Given the description of an element on the screen output the (x, y) to click on. 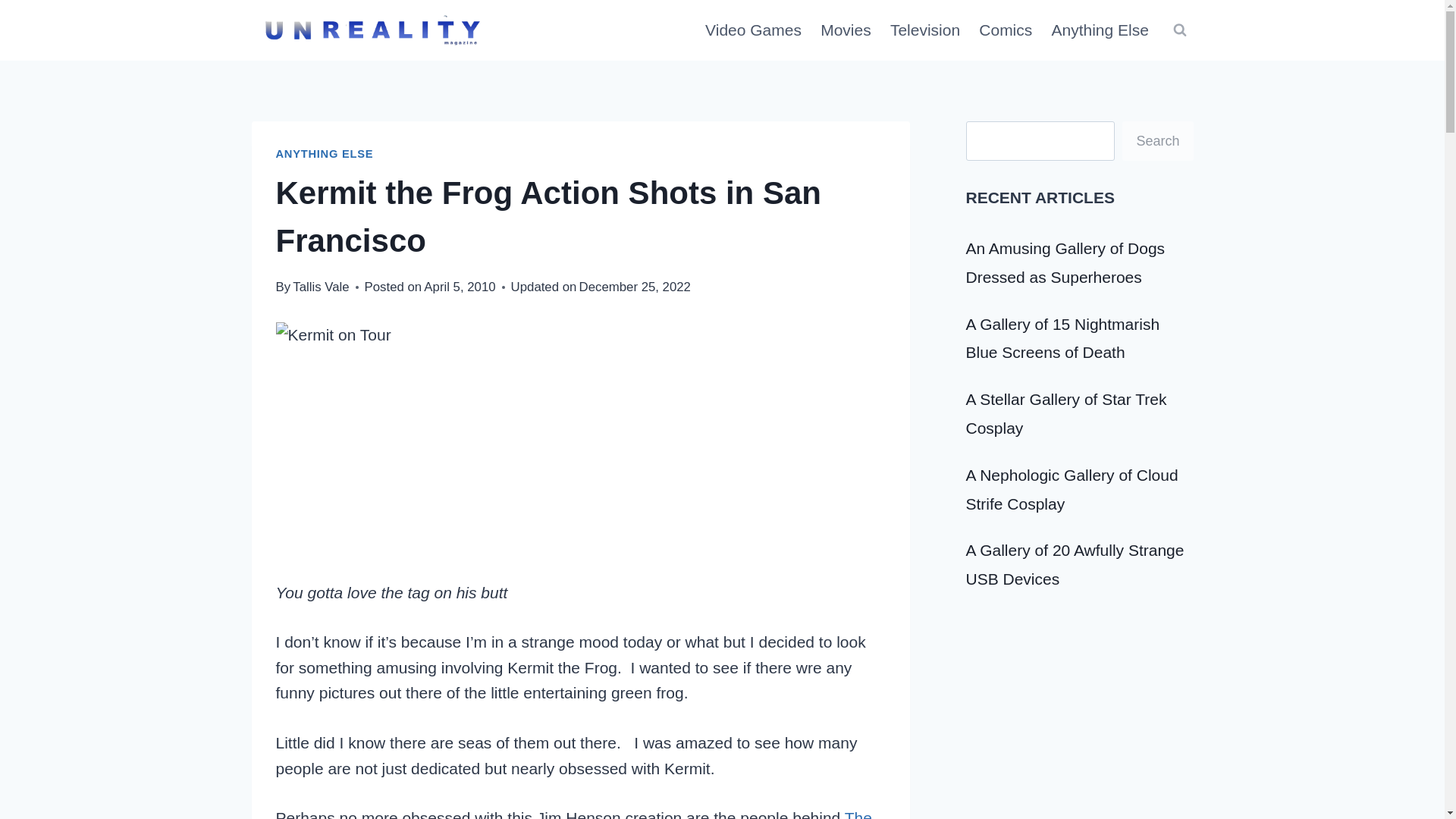
ANYTHING ELSE (325, 153)
Tallis Vale (320, 287)
Television (924, 30)
Comics (1005, 30)
Video Games (752, 30)
Anything Else (1100, 30)
The Kermit Tour (574, 814)
Movies (845, 30)
